Given the description of an element on the screen output the (x, y) to click on. 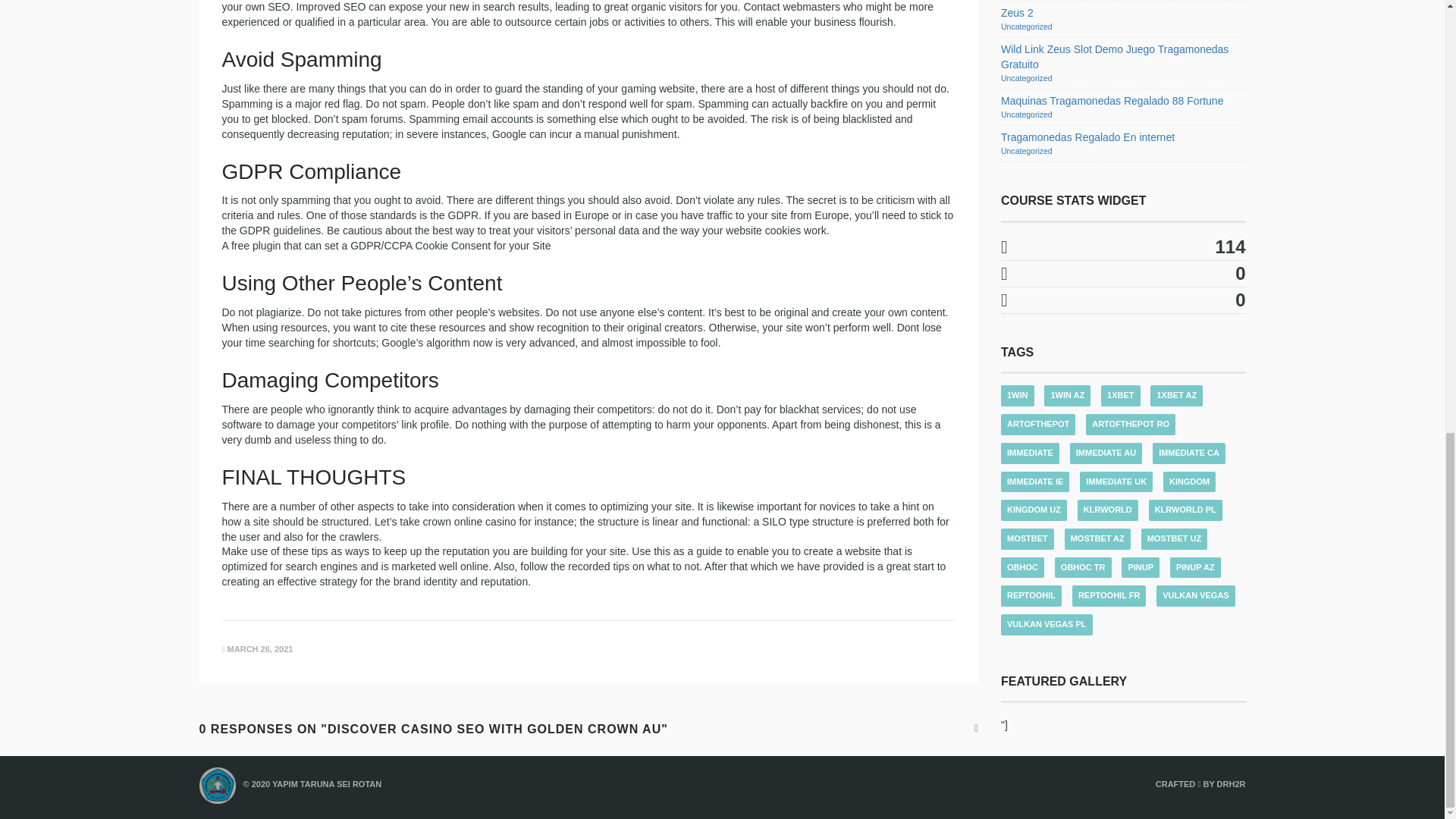
Maquinas Tragamonedas Regalado 88 Fortune (1112, 101)
Tragamonedas Regalado En internet (1087, 137)
Wild Link Zeus Slot Demo Juego Tragamonedas Gratuito (1114, 56)
Zeus 2 (1017, 12)
